Given the description of an element on the screen output the (x, y) to click on. 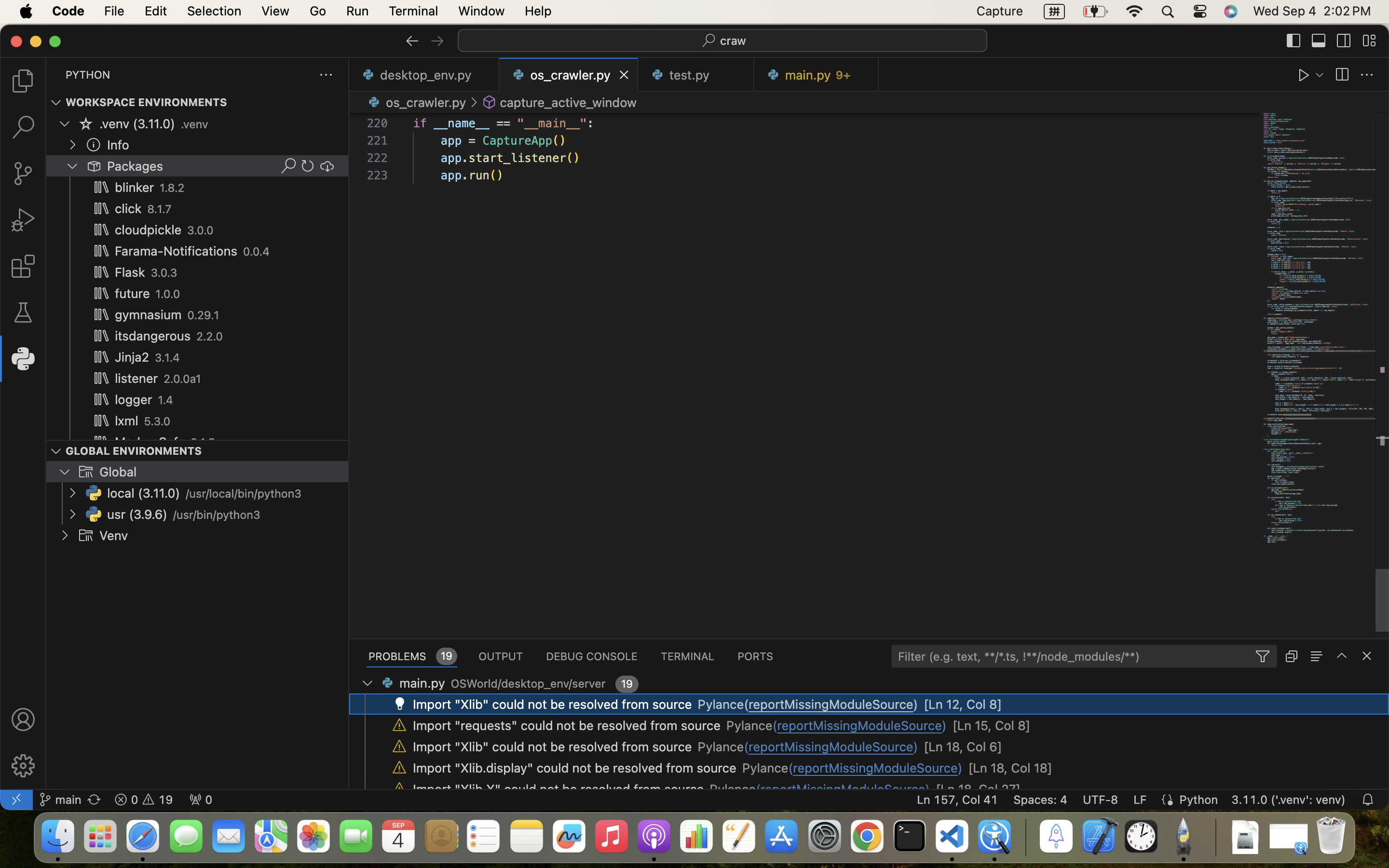
[Ln 12, Col 8] Element type: AXStaticText (963, 704)
Pylance Element type: AXStaticText (720, 746)
0.4285714328289032 Element type: AXDockItem (1024, 836)
[Ln 18, Col 18] Element type: AXStaticText (1010, 767)
